Given the description of an element on the screen output the (x, y) to click on. 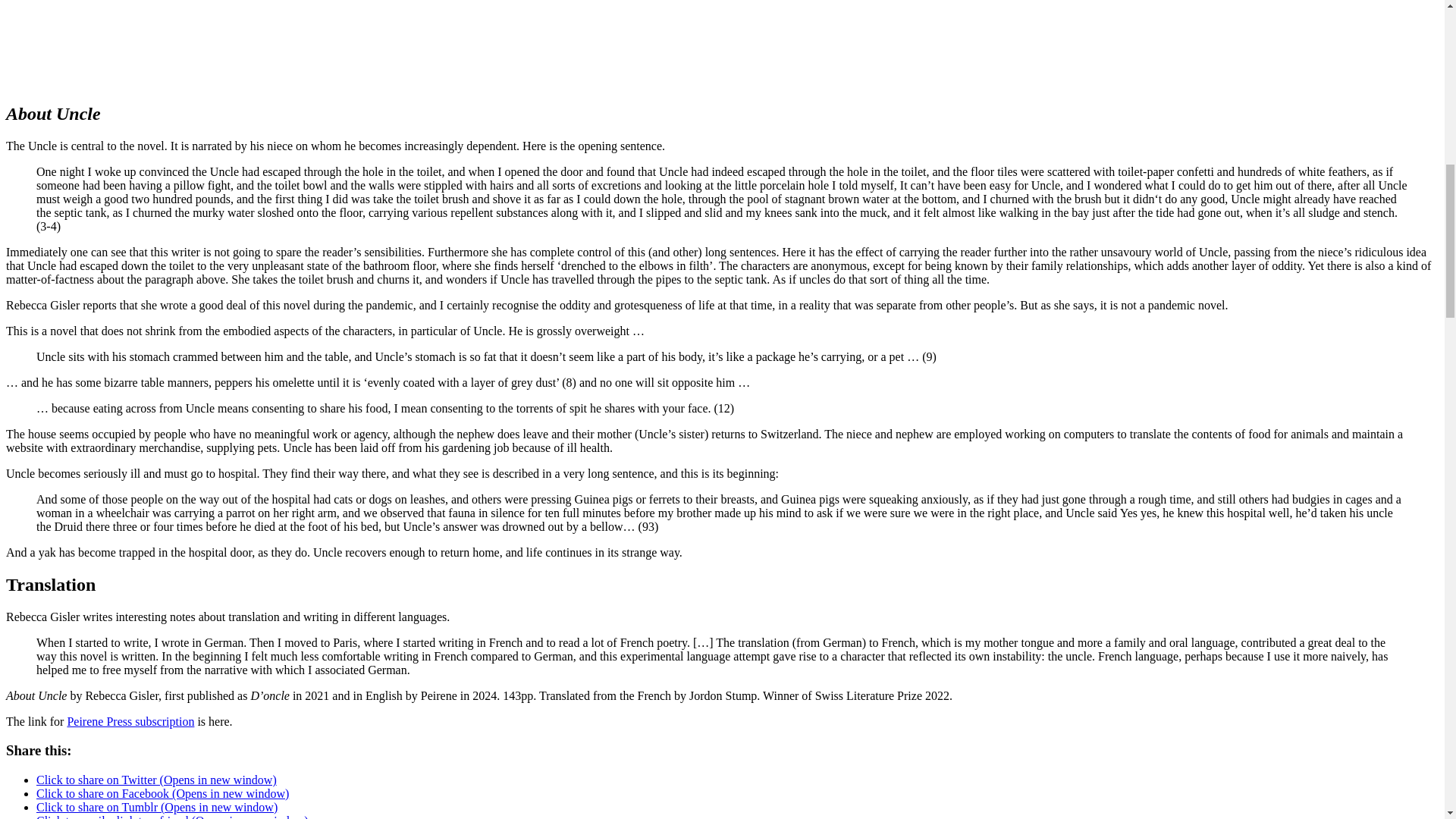
Click to share on Facebook (162, 793)
Peirene Press subscription (129, 721)
Click to share on Twitter (156, 779)
Click to email a link to a friend (172, 816)
Click to share on Tumblr (157, 807)
